Given the description of an element on the screen output the (x, y) to click on. 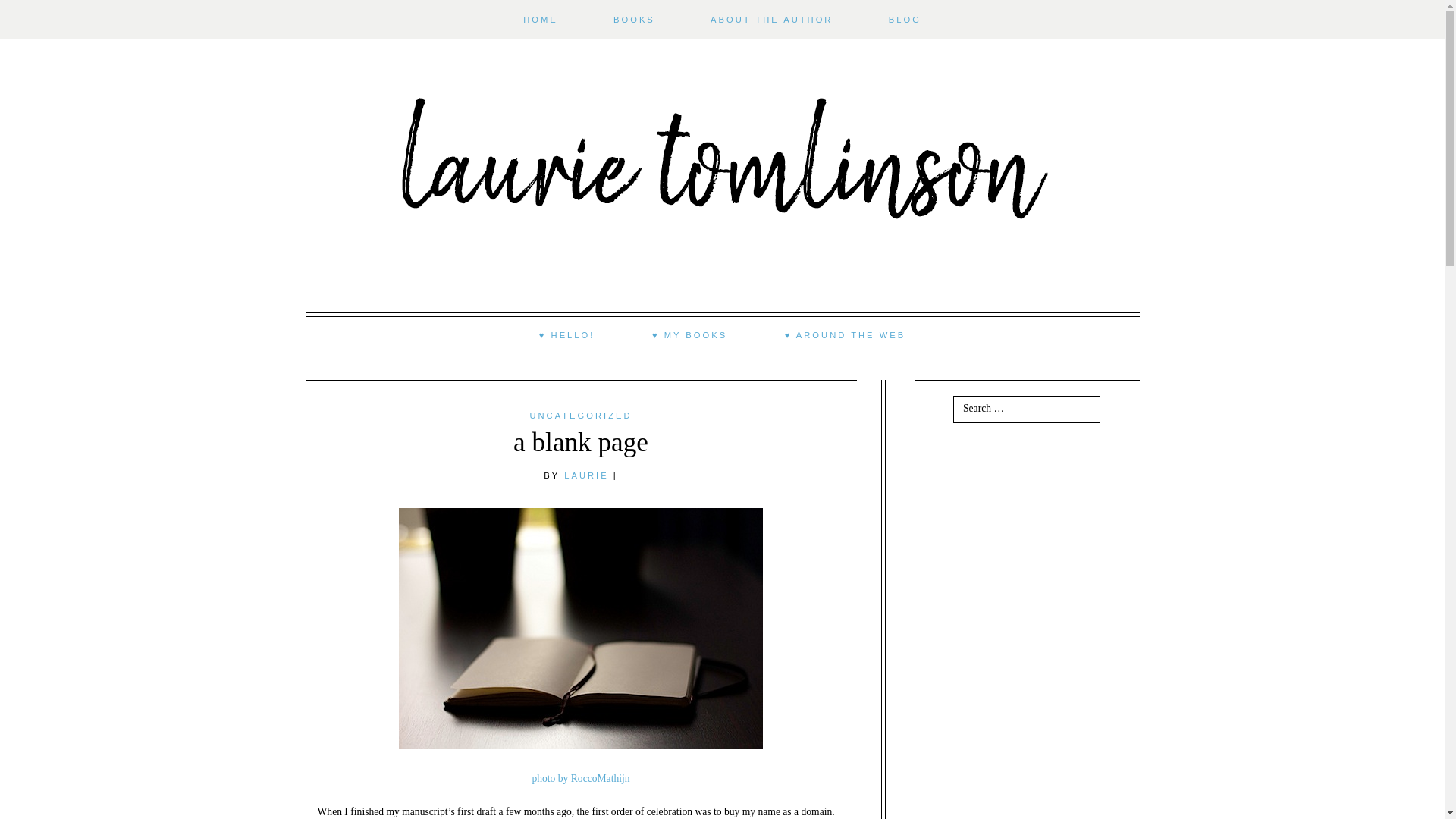
HOME (540, 19)
Search (29, 9)
BOOKS (633, 19)
ABOUT THE AUTHOR (772, 19)
UNCATEGORIZED (580, 415)
photo by RoccoMathijn (579, 778)
photo by roccomathijn (579, 778)
BLOG (904, 19)
LAURIE (586, 474)
